Given the description of an element on the screen output the (x, y) to click on. 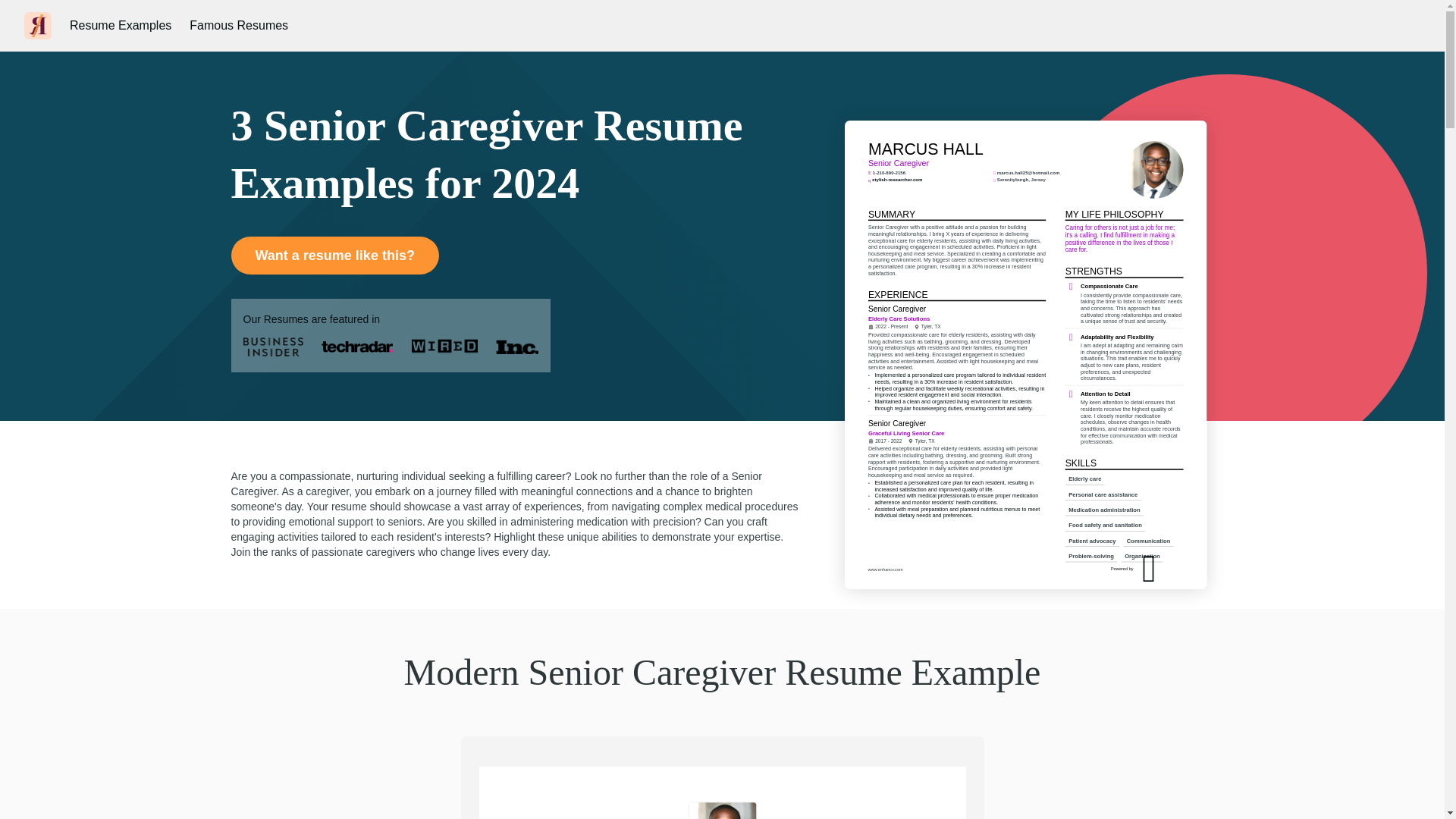
stylish-researcher.com (926, 242)
Famous Resumes (238, 26)
Resume Examples (120, 26)
Want a resume like this? (334, 255)
Powered by (1183, 621)
